Given the description of an element on the screen output the (x, y) to click on. 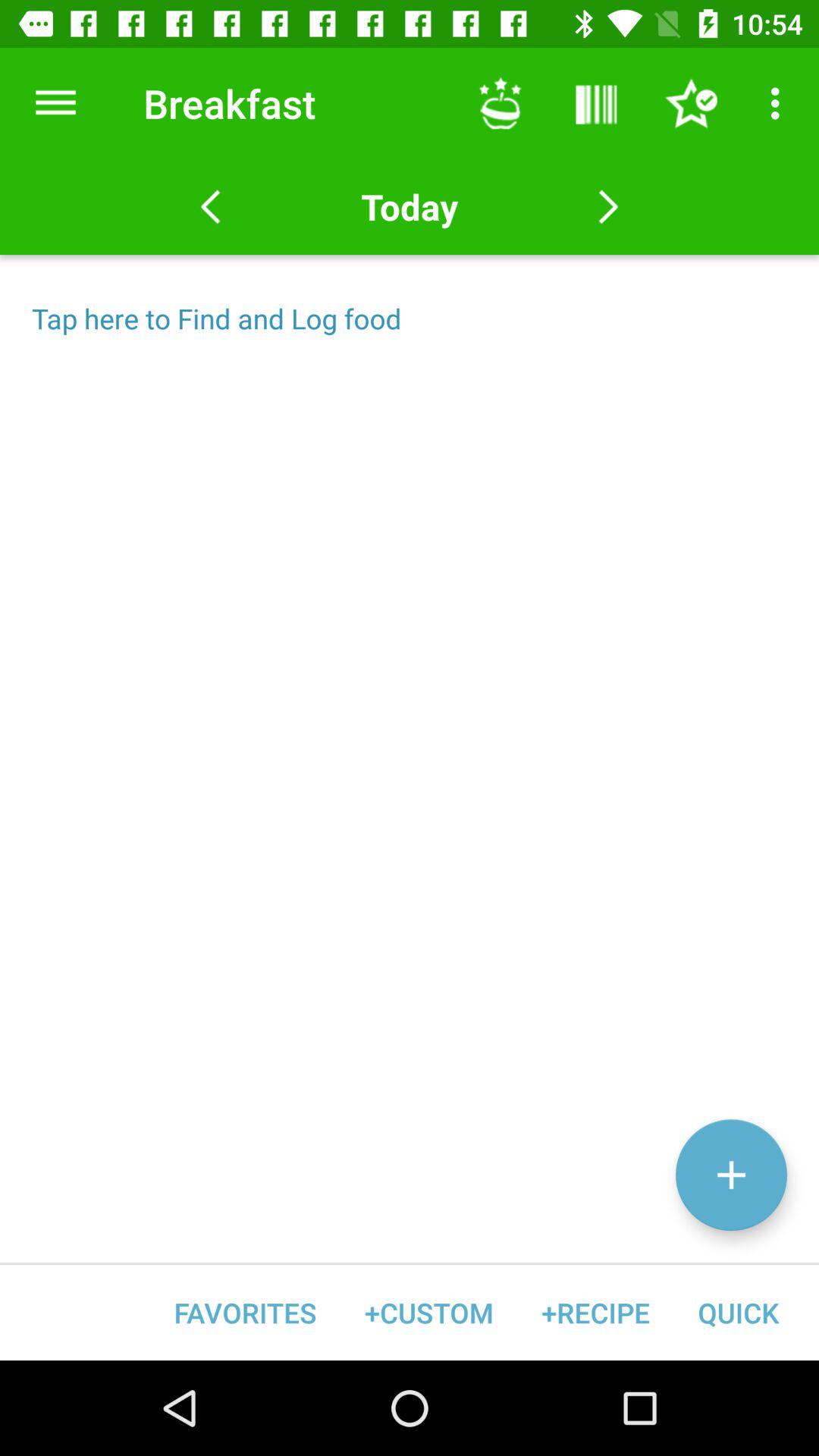
press icon to the right of +recipe (738, 1312)
